Given the description of an element on the screen output the (x, y) to click on. 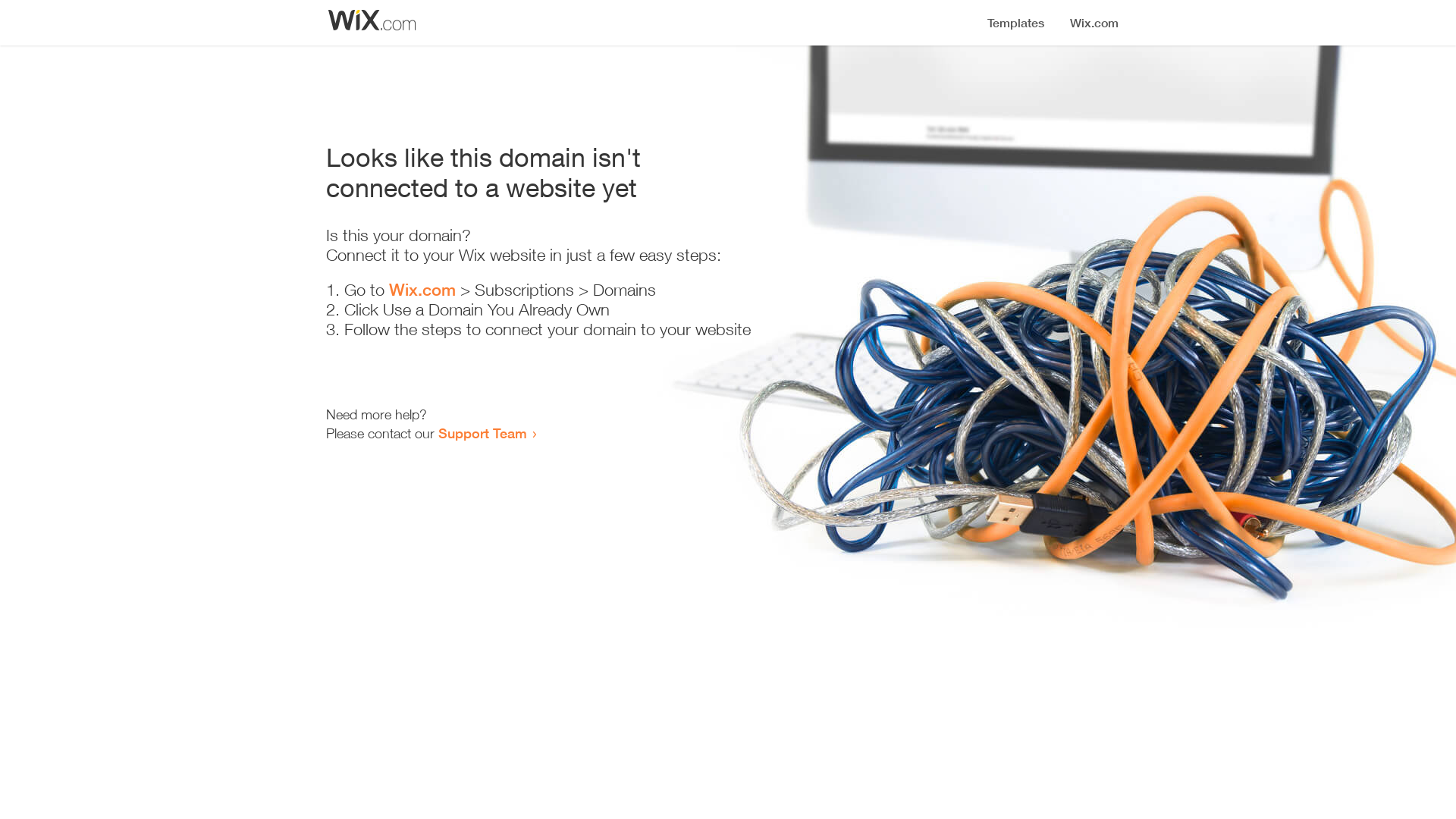
Wix.com Element type: text (422, 289)
Support Team Element type: text (482, 432)
